Given the description of an element on the screen output the (x, y) to click on. 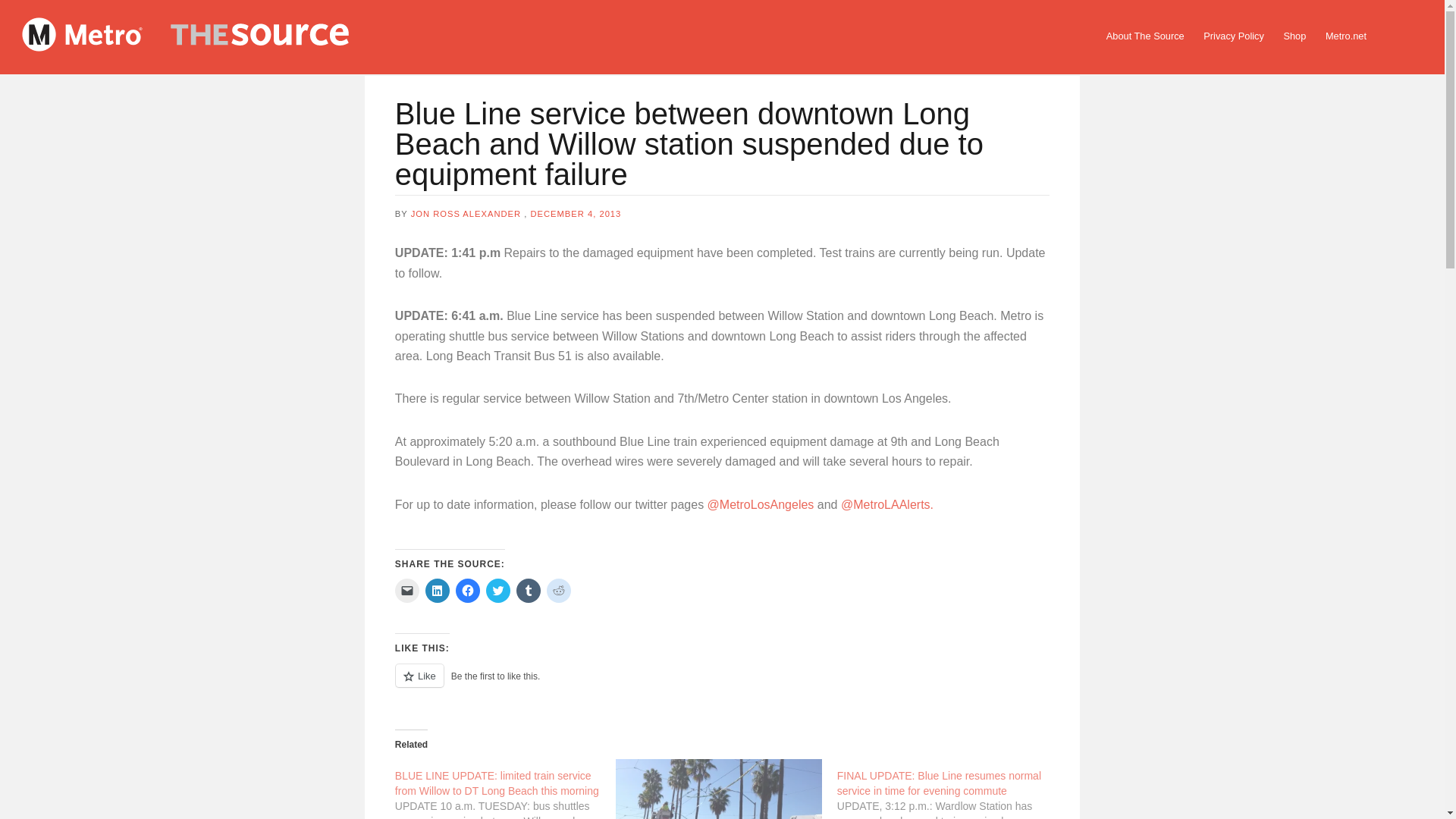
Click to share on Reddit (558, 590)
JON ROSS ALEXANDER (465, 213)
Click to share on Tumblr (528, 590)
Like or Reblog (721, 684)
View all posts by Jon Ross Alexander (465, 213)
Click to share on LinkedIn (437, 590)
The Source (211, 37)
6:09 am (575, 213)
About The Source (1144, 36)
DECEMBER 4, 2013 (575, 213)
Click to share on Twitter (498, 590)
Metro.net (1345, 36)
Click to share on Facebook (467, 590)
